Given the description of an element on the screen output the (x, y) to click on. 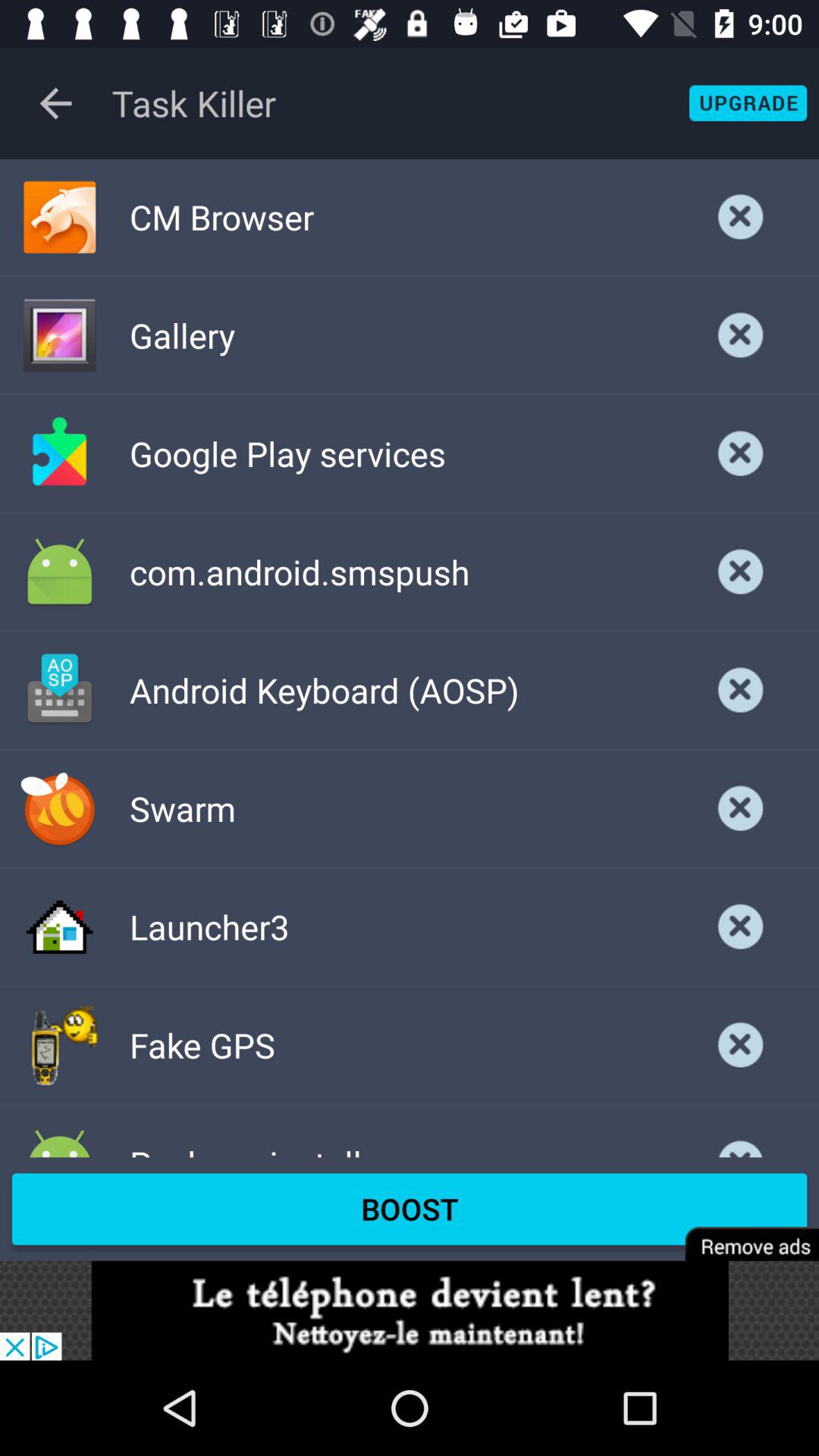
close gallery task (740, 335)
